Given the description of an element on the screen output the (x, y) to click on. 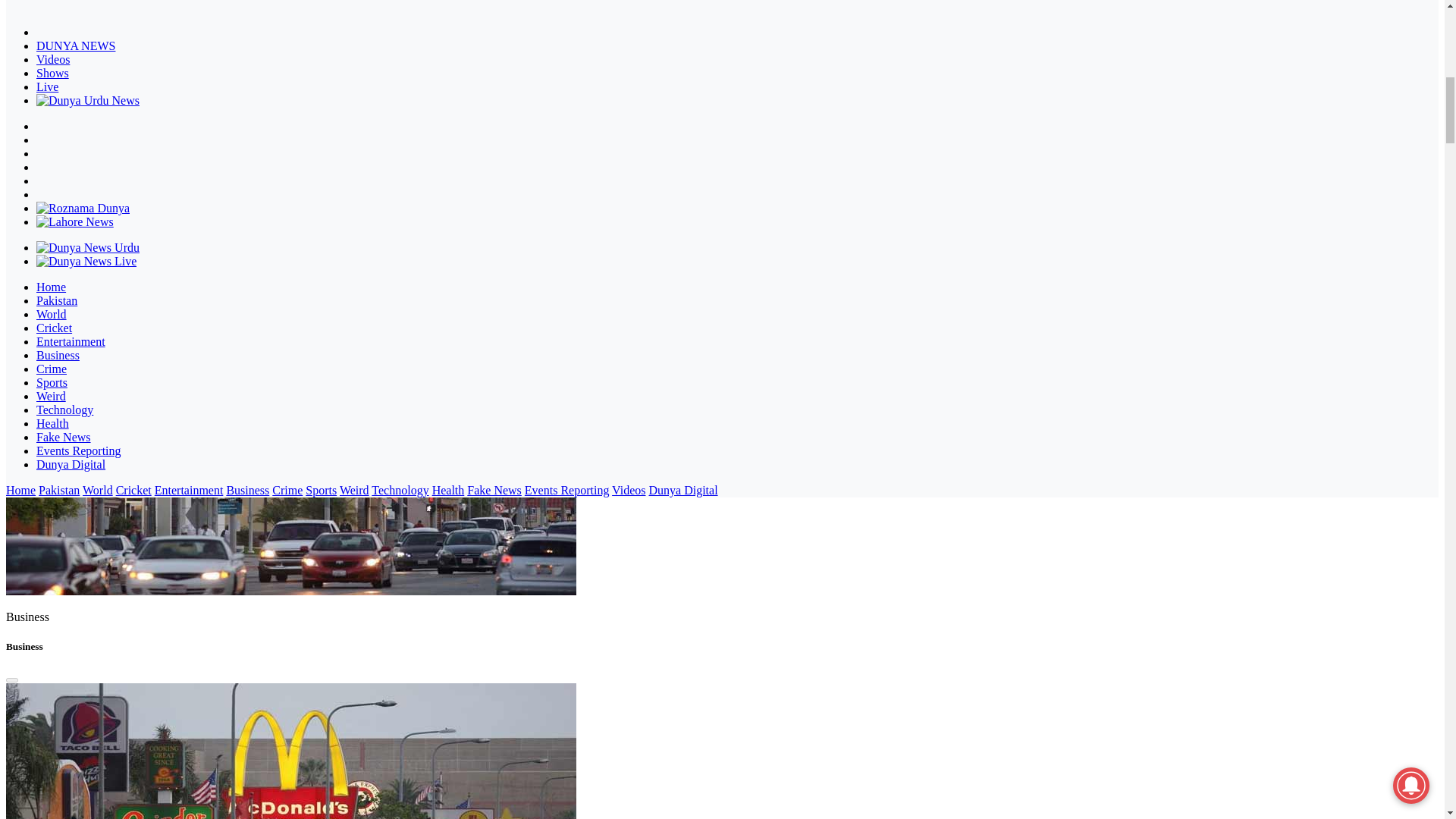
YouTube video player (118, 147)
3rd party ad content (118, 38)
